Given the description of an element on the screen output the (x, y) to click on. 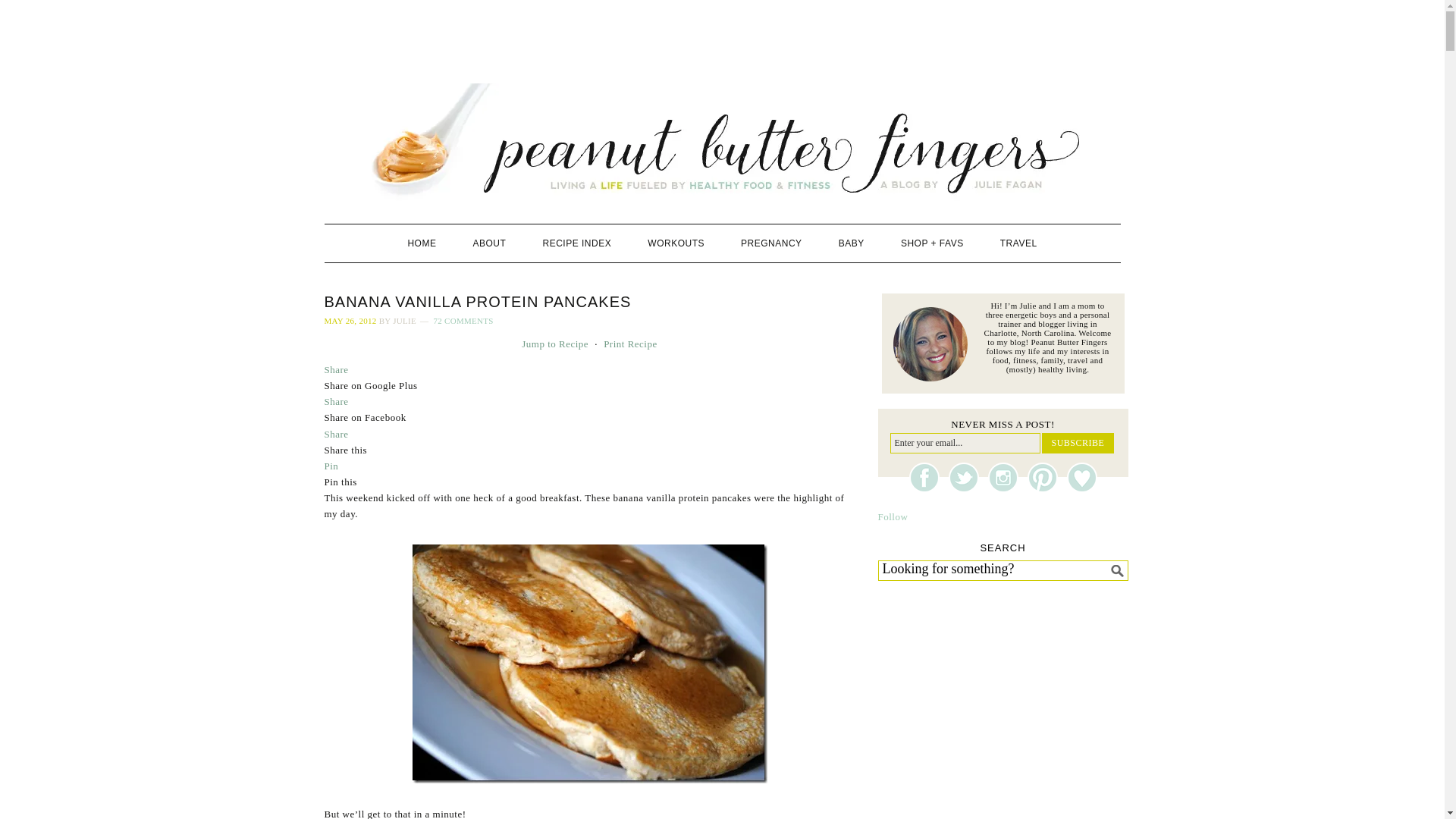
JULIE (404, 320)
PEANUT BUTTER FINGERS (722, 141)
HOME (421, 243)
SUBSCRIBE (1078, 443)
Print Recipe (631, 343)
Enter your email... (965, 443)
Share (336, 401)
TRAVEL (1019, 243)
Pin (331, 465)
Share (336, 369)
Share (336, 432)
72 COMMENTS (462, 320)
BABY (851, 243)
